Given the description of an element on the screen output the (x, y) to click on. 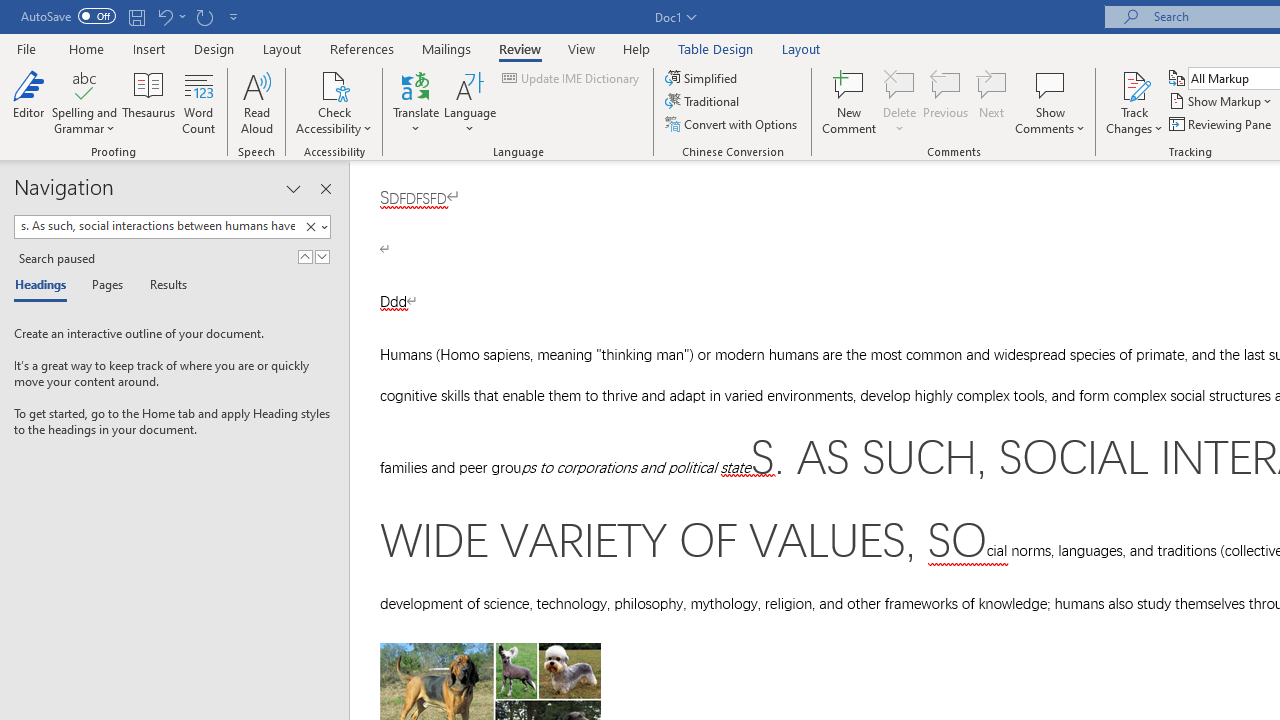
Word Count (198, 102)
New Comment (849, 102)
Repeat Style (204, 15)
Read Aloud (256, 102)
Simplified (702, 78)
Check Accessibility (334, 102)
Update IME Dictionary... (572, 78)
Undo Style (170, 15)
Next Result (322, 256)
